Given the description of an element on the screen output the (x, y) to click on. 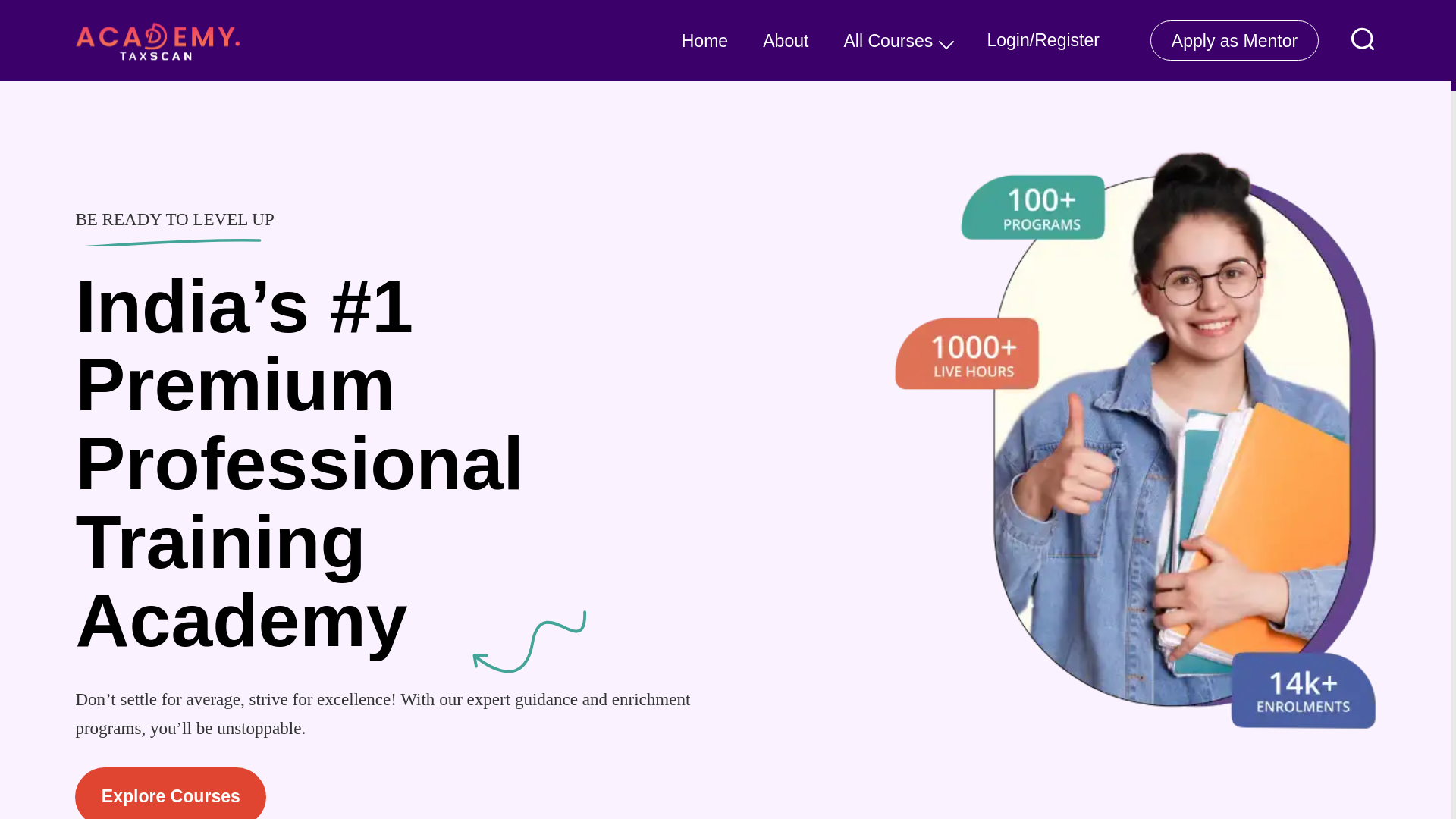
All Courses (888, 40)
Home (704, 40)
Explore Courses (169, 793)
About (785, 40)
Apply as Mentor (1234, 40)
